Given the description of an element on the screen output the (x, y) to click on. 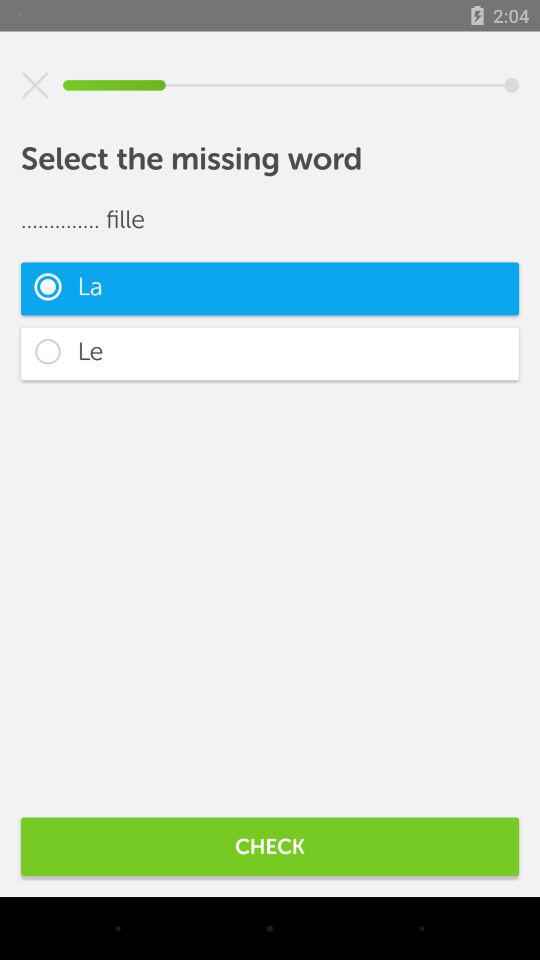
click item below the la icon (270, 353)
